Given the description of an element on the screen output the (x, y) to click on. 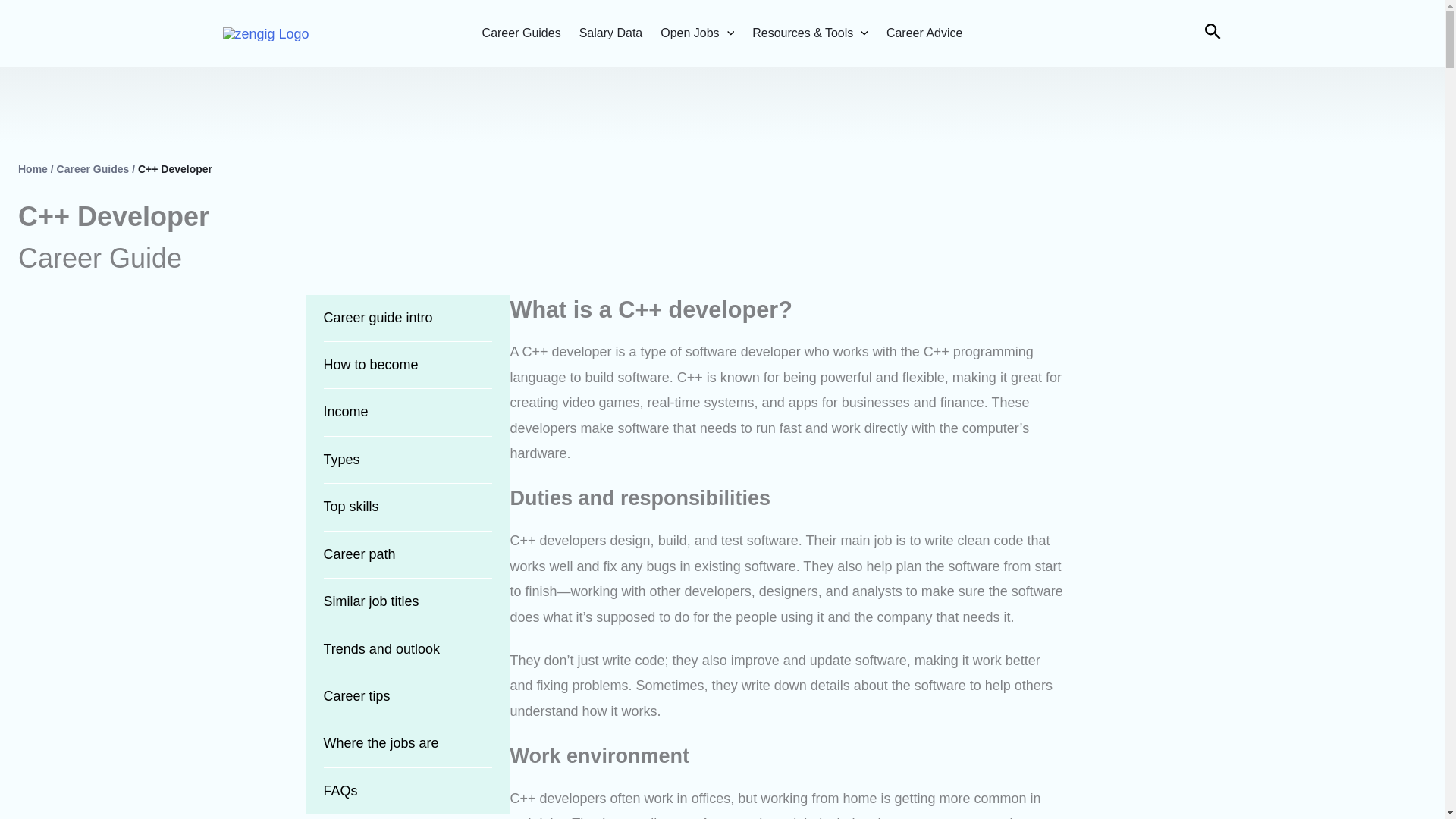
Open Jobs (697, 33)
Career Advice (924, 33)
Salary Data (611, 33)
Career Guides (520, 33)
